Given the description of an element on the screen output the (x, y) to click on. 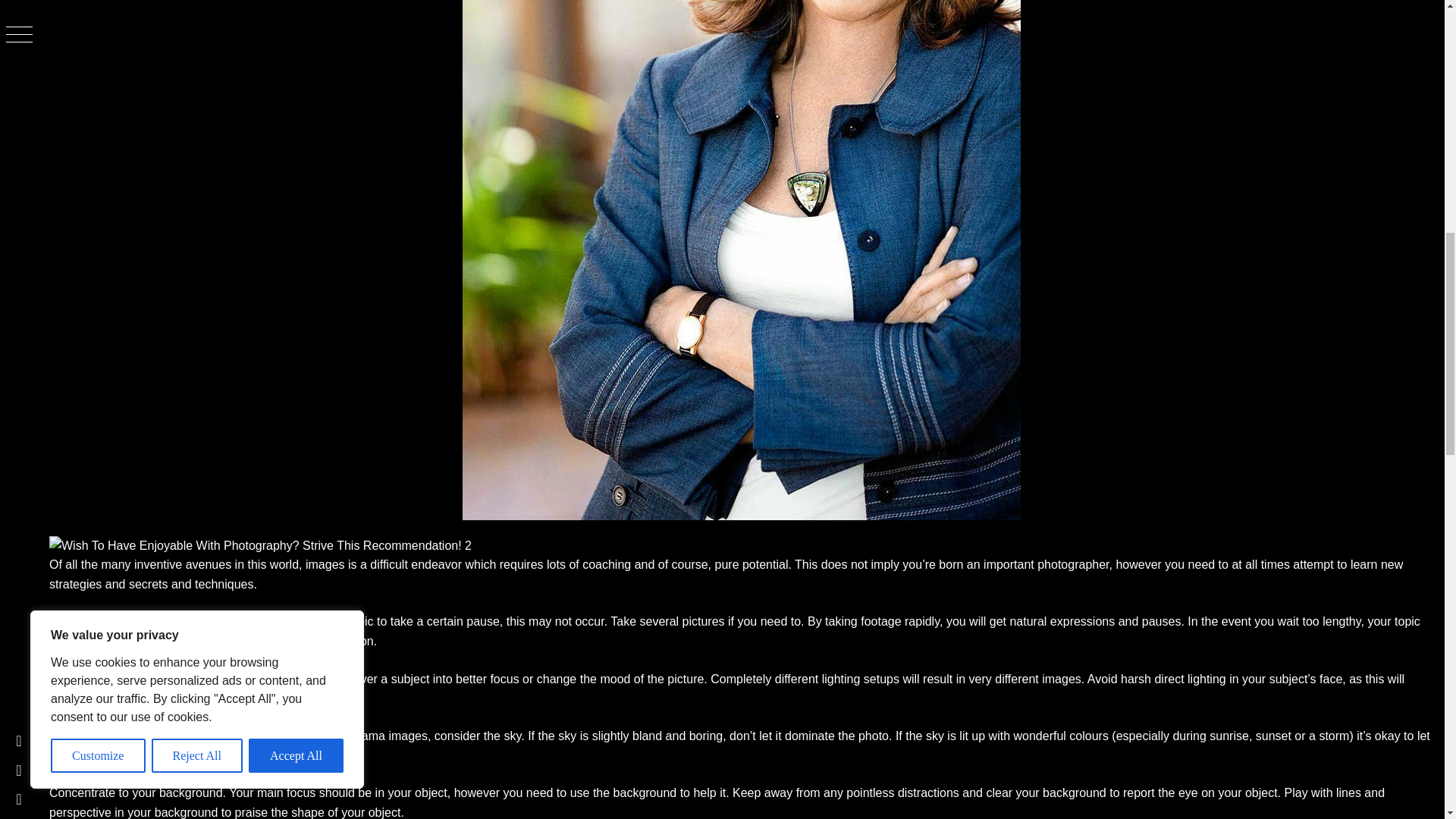
please click the following webpage (176, 735)
